Given the description of an element on the screen output the (x, y) to click on. 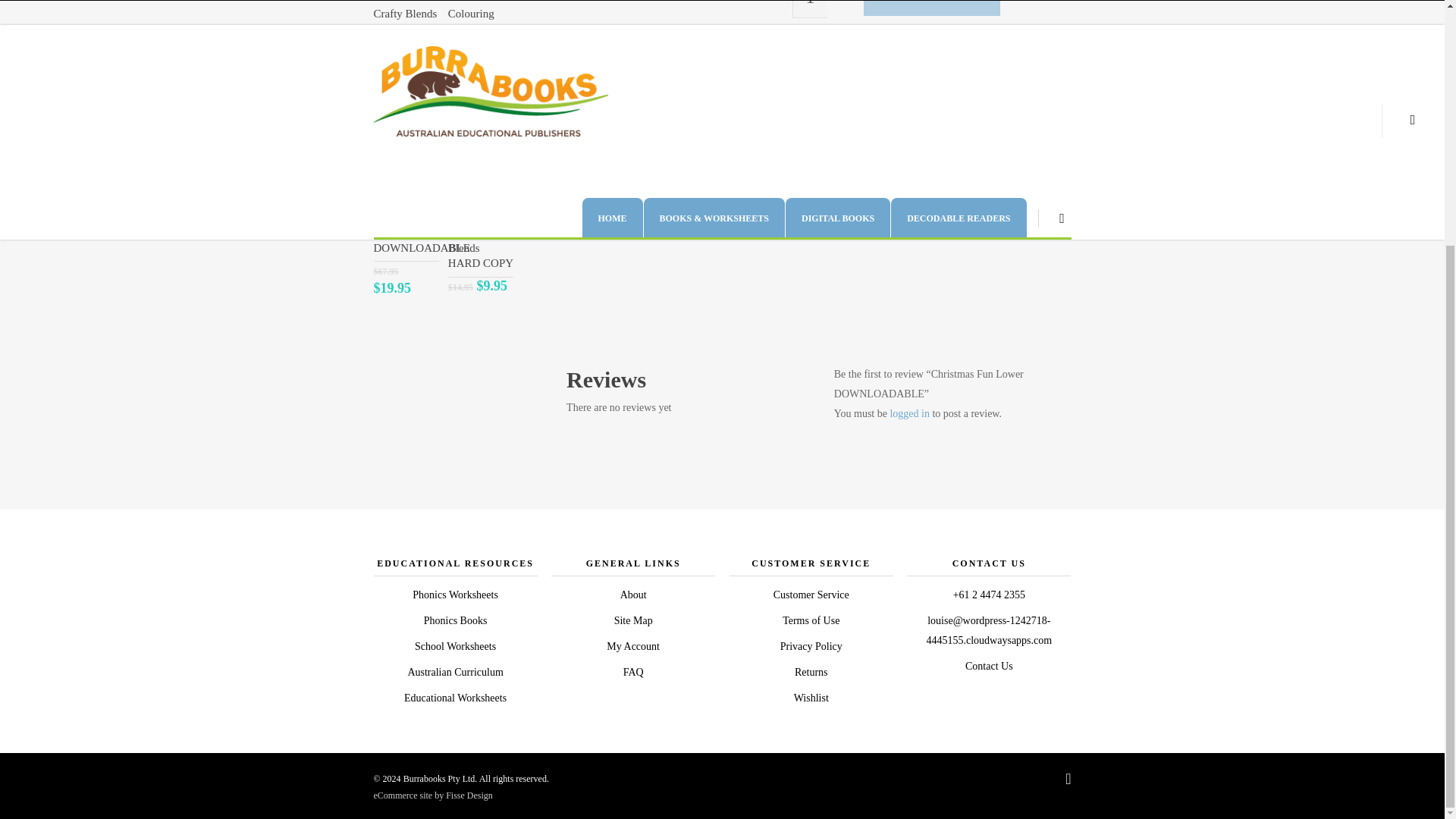
South Coast eCommerce Sites (432, 795)
1 (809, 9)
